Given the description of an element on the screen output the (x, y) to click on. 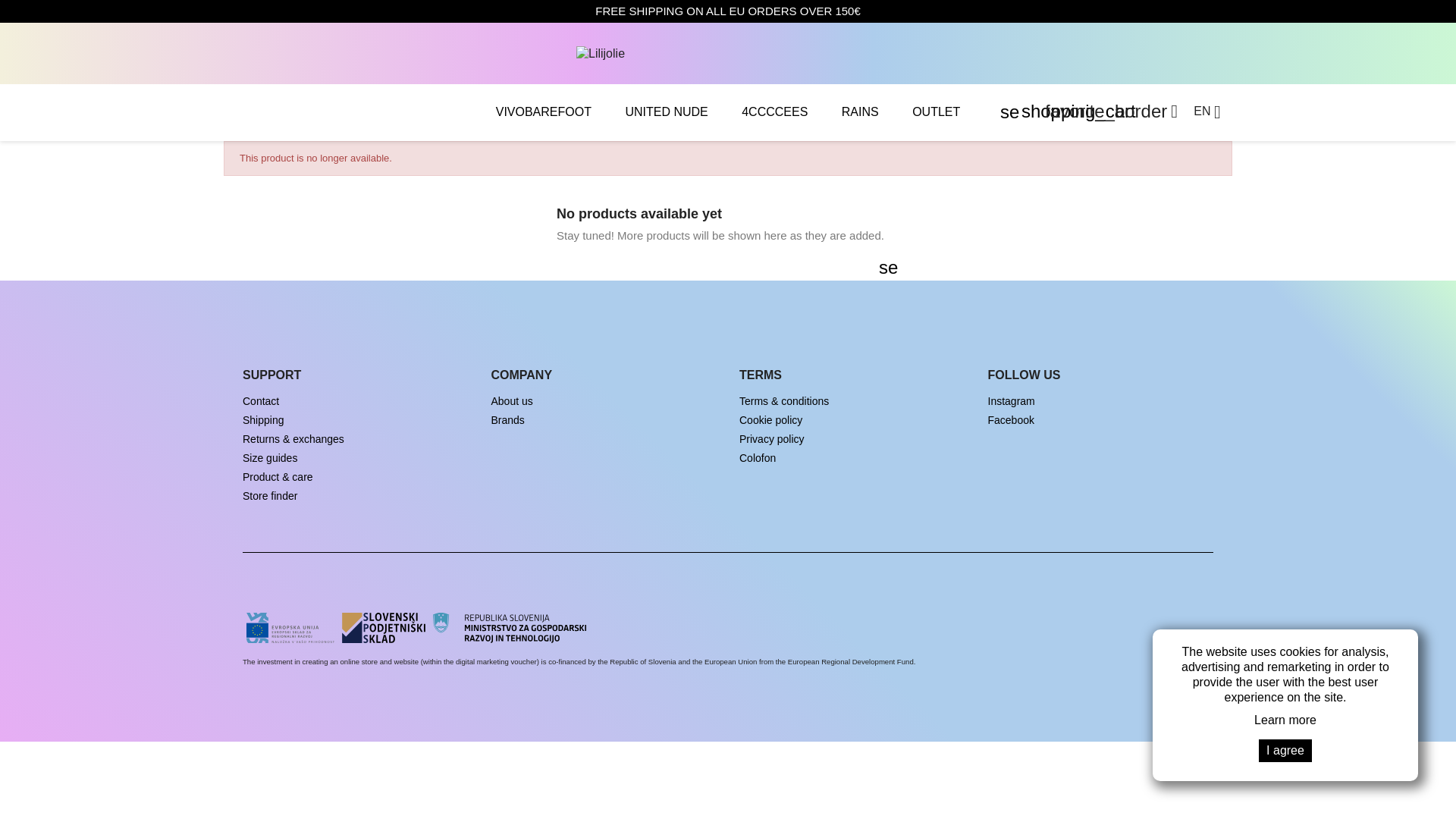
Instagram (1010, 400)
Store finder (270, 495)
Brands (508, 419)
Contact (261, 400)
Facebook (1010, 419)
OUTLET (935, 111)
Colofon (757, 458)
Shipping (263, 419)
Cookie policy (770, 419)
Privacy policy (772, 439)
